Given the description of an element on the screen output the (x, y) to click on. 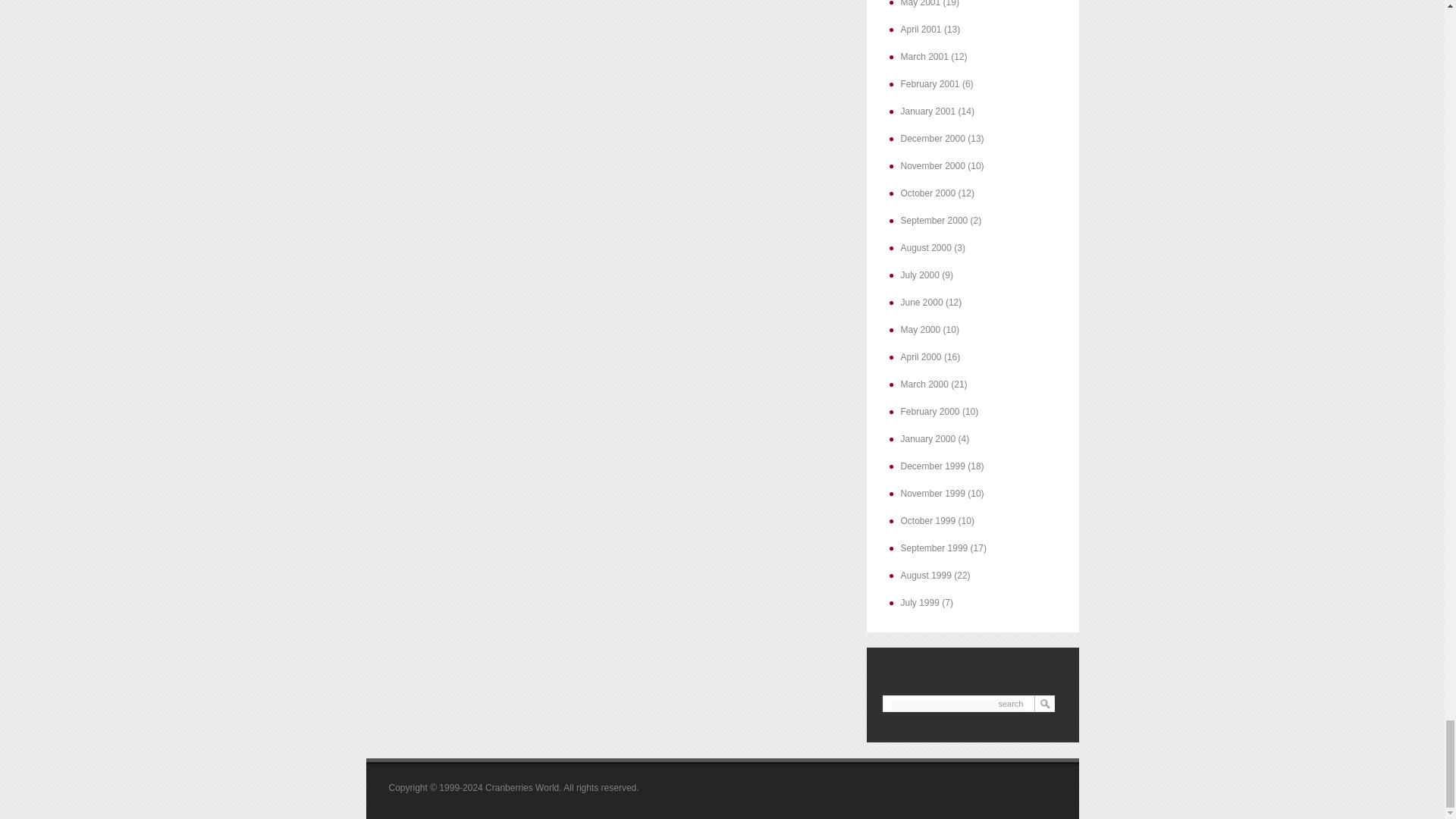
search (956, 705)
